Given the description of an element on the screen output the (x, y) to click on. 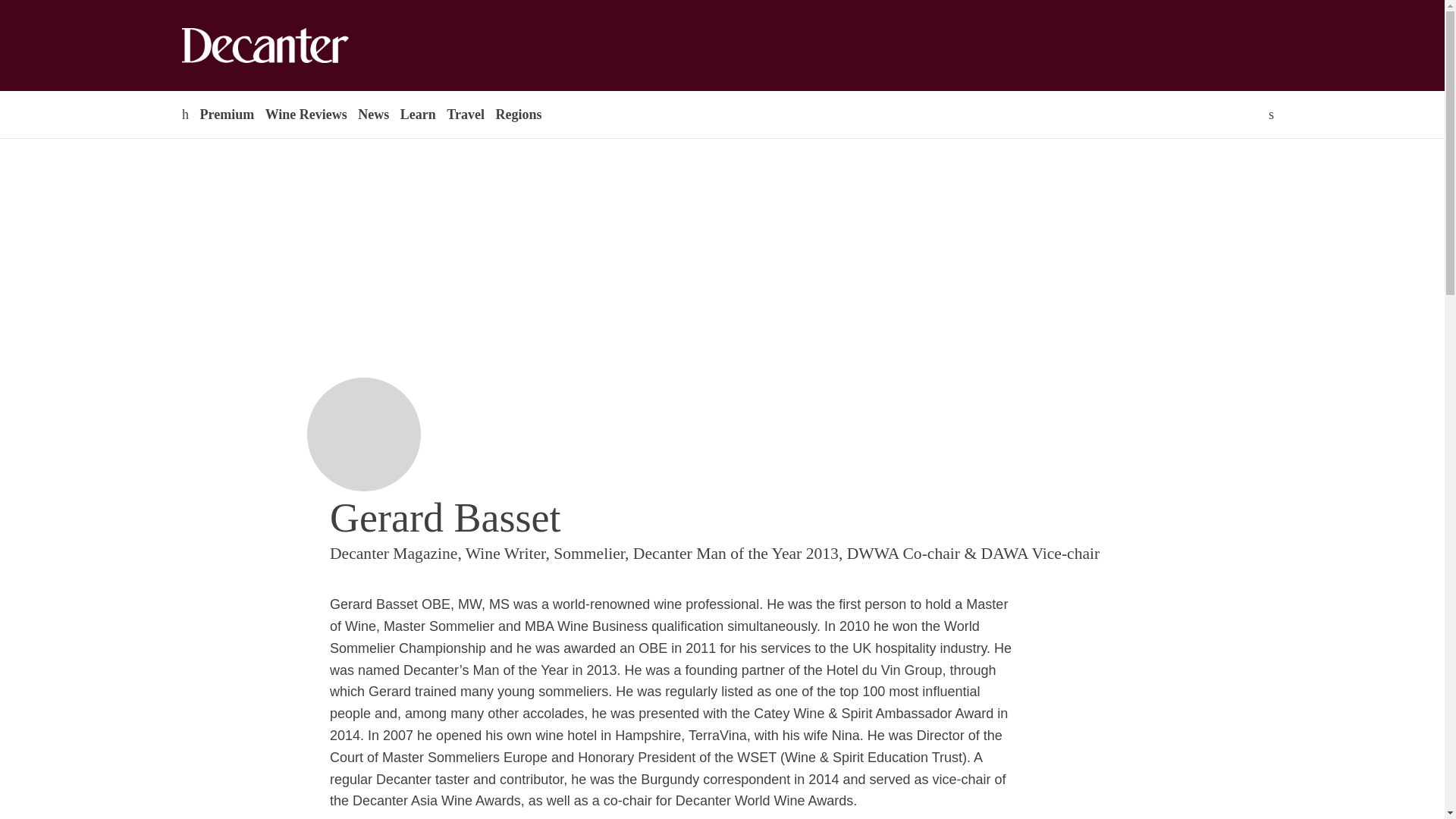
Learn (417, 114)
Decanter (297, 45)
Travel (464, 114)
Wine Reviews (306, 114)
Premium (226, 114)
